Given the description of an element on the screen output the (x, y) to click on. 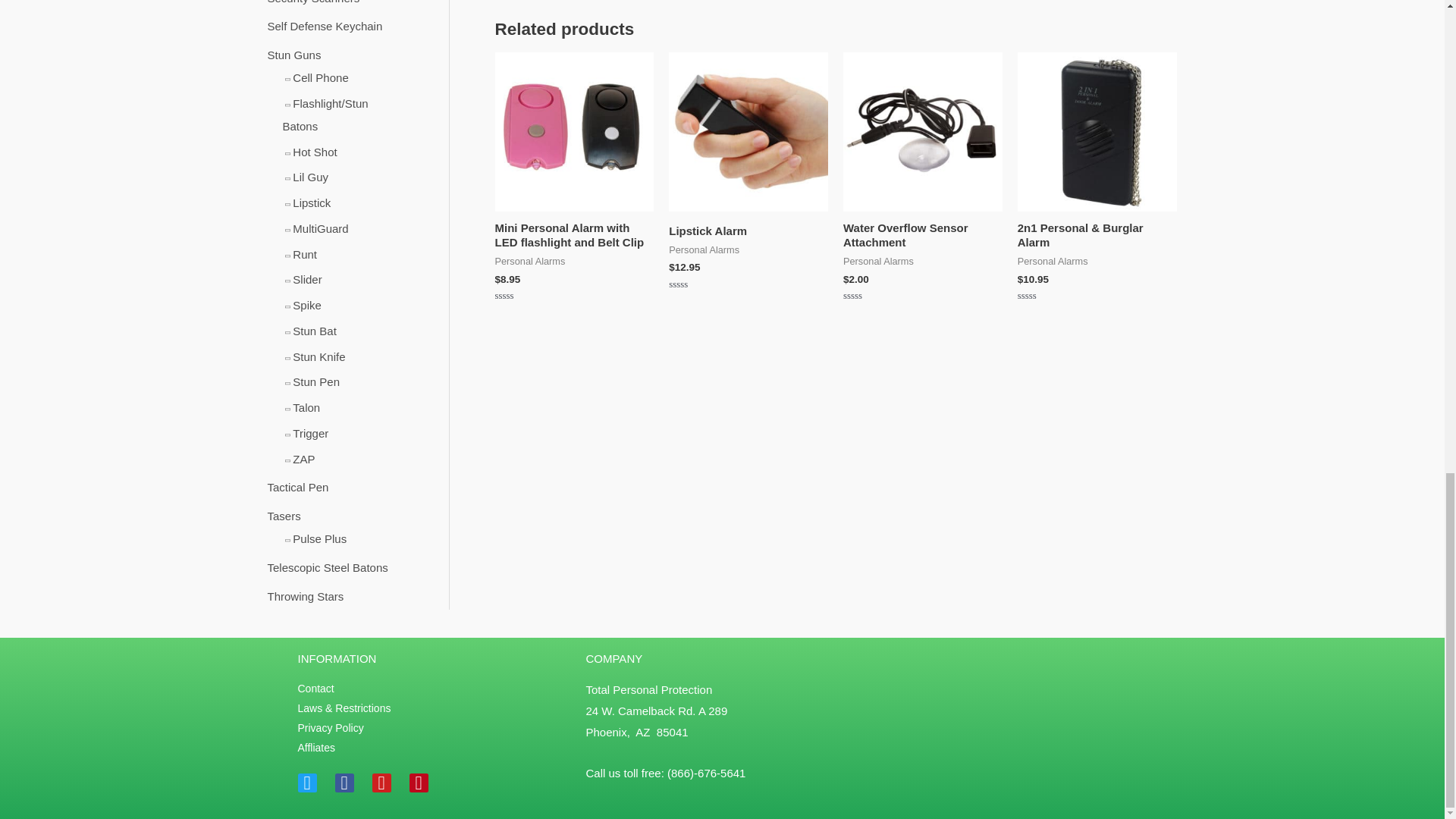
Stun Guns (293, 54)
Security Scanners (312, 2)
Self Defense Keychain (323, 25)
PAL-120-Group - Total Personal Protection (574, 131)
